Given the description of an element on the screen output the (x, y) to click on. 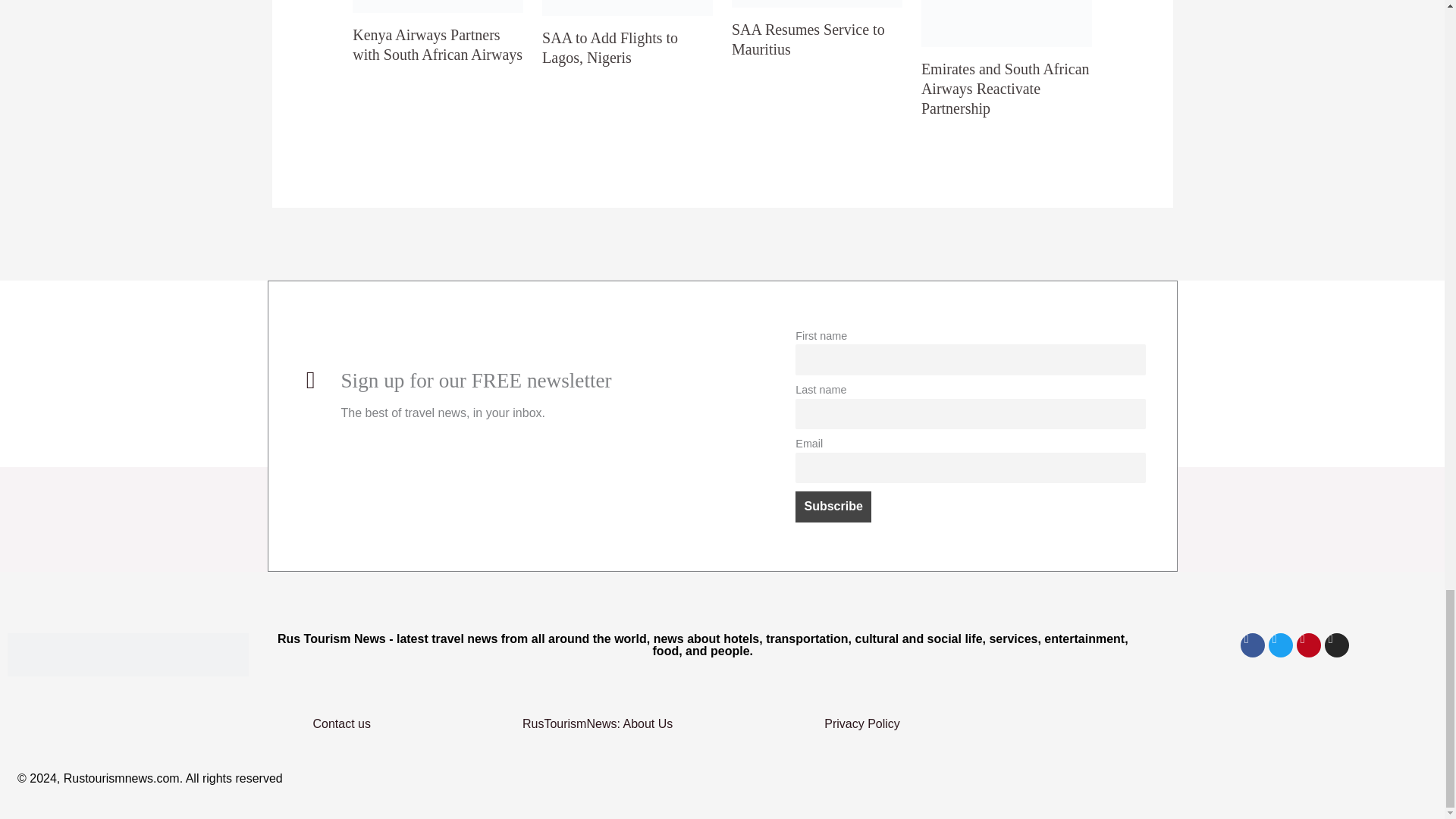
Subscribe (832, 506)
SAA Resumes Service to Mauritius 9 (817, 3)
SAA to Add Flights to Lagos, Nigeris 8 (627, 7)
Emirates and South African Airways Reactivate Partnership 10 (1006, 23)
Kenya Airways Partners with South African Airways 7 (437, 6)
